Given the description of an element on the screen output the (x, y) to click on. 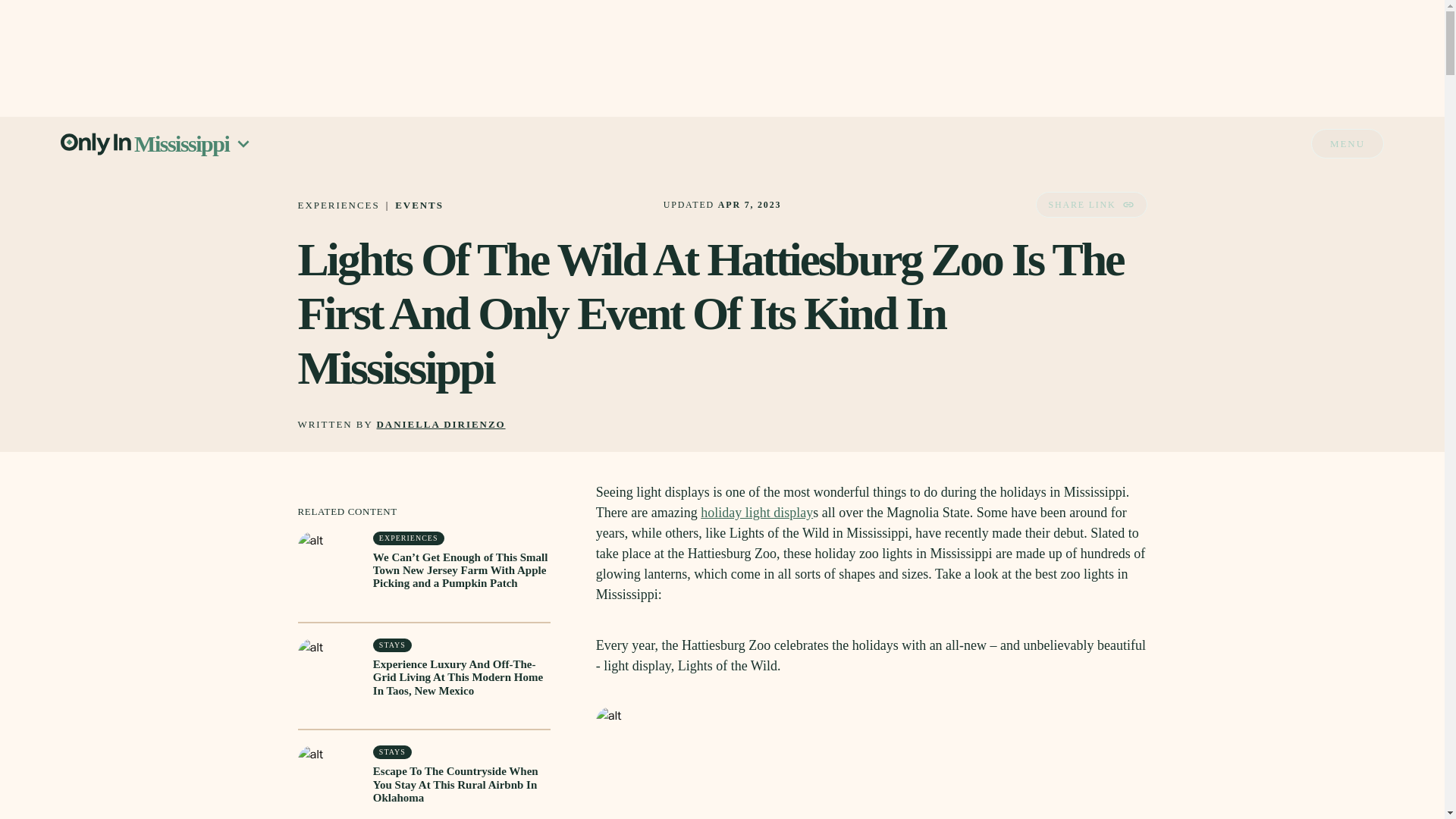
SHARE LINK (1091, 204)
holiday light display (756, 512)
EVENTS (419, 204)
EXPERIENCES (337, 204)
MENU (1347, 143)
DANIELLA DIRIENZO (441, 424)
